Given the description of an element on the screen output the (x, y) to click on. 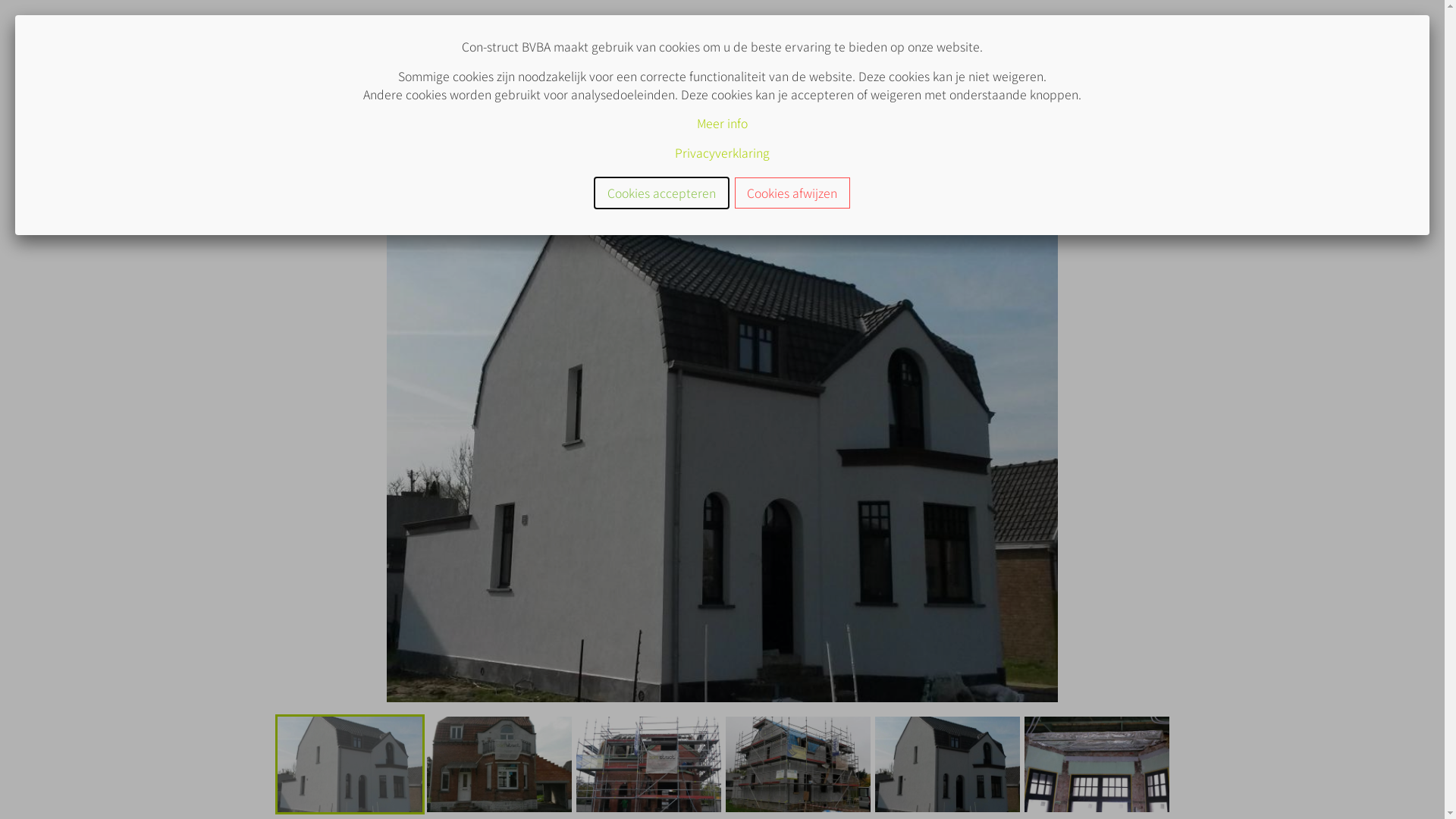
Meer info Element type: text (721, 122)
CONTACT Element type: text (977, 37)
Privacyverklaring Element type: text (721, 152)
Cookies afwijzen Element type: text (792, 193)
OVER ONS Element type: text (658, 37)
PROJECTEN Element type: text (762, 37)
REALISATIES Element type: text (873, 37)
REALISATIES Element type: text (336, 95)
Con-struct Element type: hover (513, 40)
HOME Element type: text (287, 95)
Cookies accepteren Element type: text (661, 193)
TOTAALRENOVATIE WONING OOSTAKKER Element type: text (467, 95)
